Given the description of an element on the screen output the (x, y) to click on. 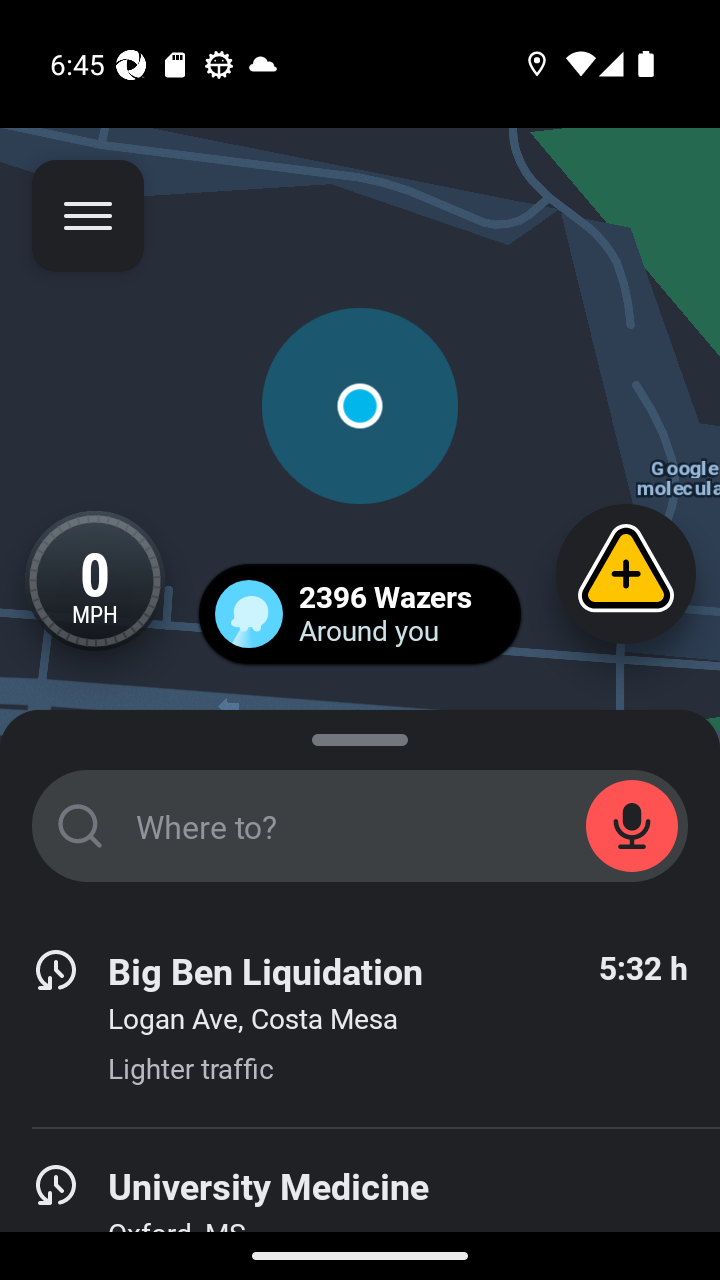
SUGGESTIONS_SHEET_DRAG_HANDLE (359, 735)
START_STATE_SEARCH_FIELD Where to? (359, 825)
University Medicine Oxford, MS (360, 1204)
